Given the description of an element on the screen output the (x, y) to click on. 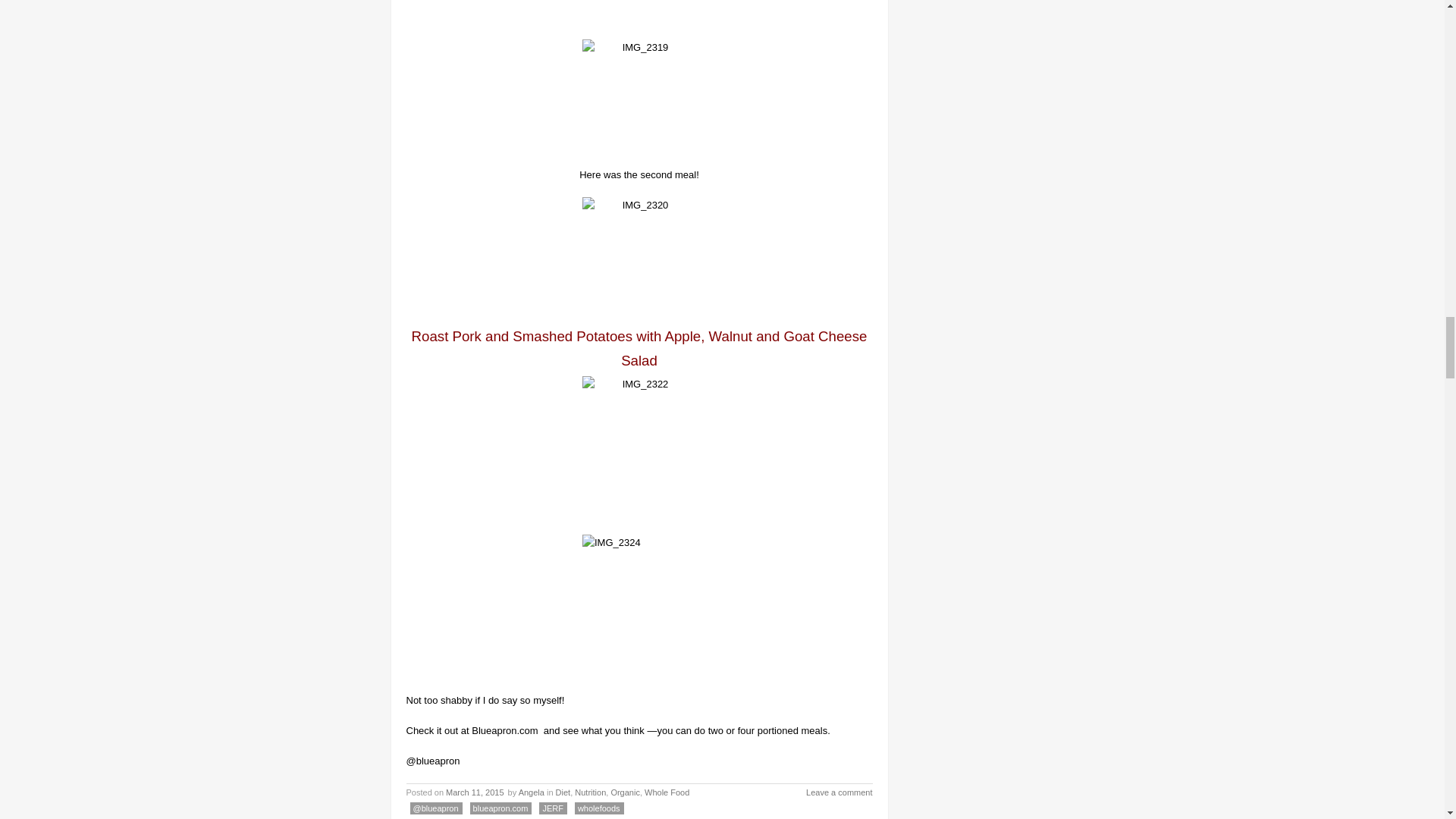
View all posts by Angela (531, 791)
9:29 am (475, 791)
